Given the description of an element on the screen output the (x, y) to click on. 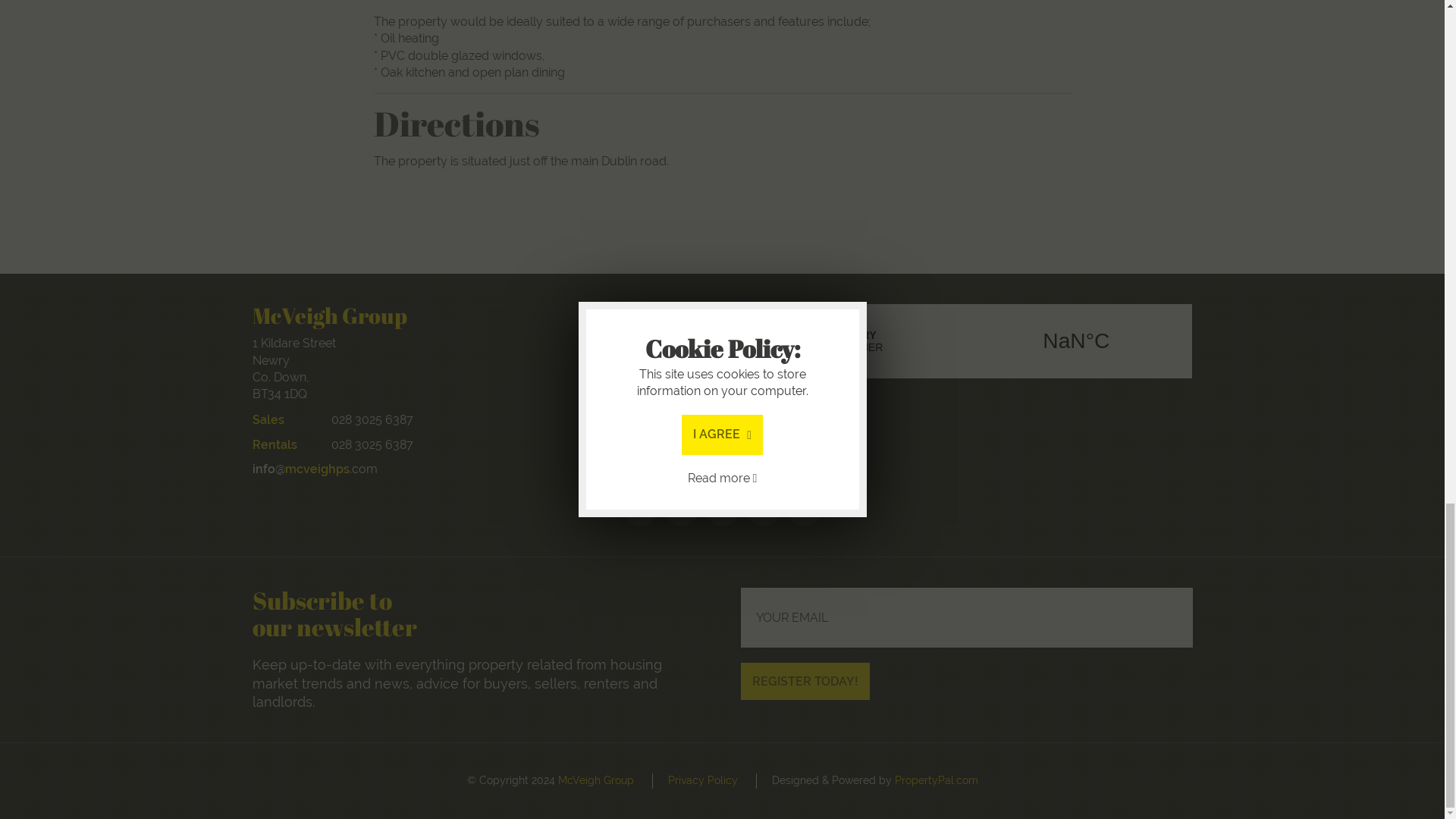
REGISTER TODAY! (805, 681)
Weather Widget (966, 340)
